Given the description of an element on the screen output the (x, y) to click on. 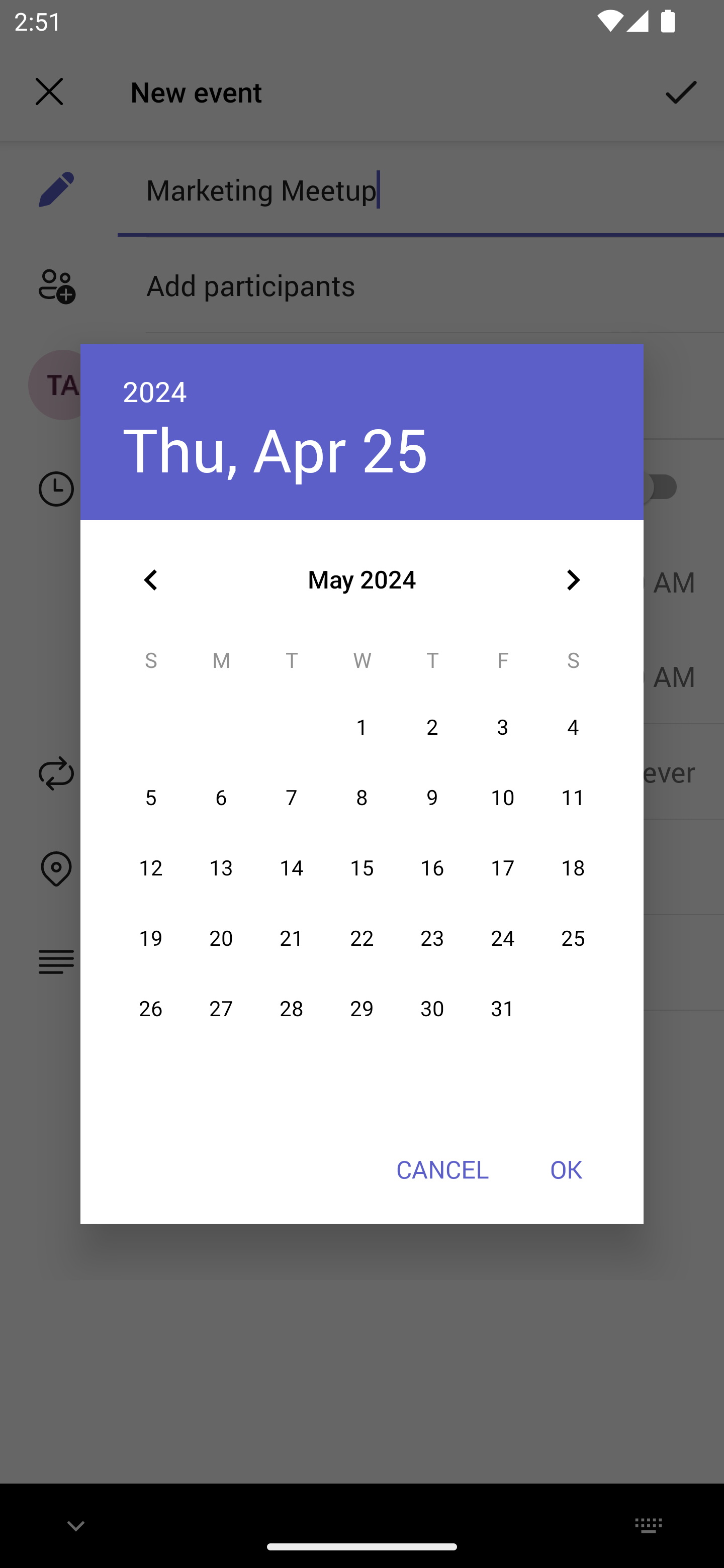
2024 (154, 391)
Thu, Apr 25 (275, 449)
Previous month (150, 579)
Next month (572, 579)
1 01 May 2024 (361, 728)
2 02 May 2024 (432, 728)
3 03 May 2024 (502, 728)
4 04 May 2024 (572, 728)
5 05 May 2024 (150, 797)
6 06 May 2024 (221, 797)
7 07 May 2024 (291, 797)
8 08 May 2024 (361, 797)
9 09 May 2024 (432, 797)
10 10 May 2024 (502, 797)
11 11 May 2024 (572, 797)
12 12 May 2024 (150, 867)
13 13 May 2024 (221, 867)
14 14 May 2024 (291, 867)
15 15 May 2024 (361, 867)
16 16 May 2024 (432, 867)
17 17 May 2024 (502, 867)
18 18 May 2024 (572, 867)
19 19 May 2024 (150, 938)
20 20 May 2024 (221, 938)
21 21 May 2024 (291, 938)
22 22 May 2024 (361, 938)
23 23 May 2024 (432, 938)
24 24 May 2024 (502, 938)
25 25 May 2024 (572, 938)
26 26 May 2024 (150, 1008)
27 27 May 2024 (221, 1008)
28 28 May 2024 (291, 1008)
29 29 May 2024 (361, 1008)
30 30 May 2024 (432, 1008)
31 31 May 2024 (502, 1008)
CANCEL (442, 1168)
OK (565, 1168)
